Given the description of an element on the screen output the (x, y) to click on. 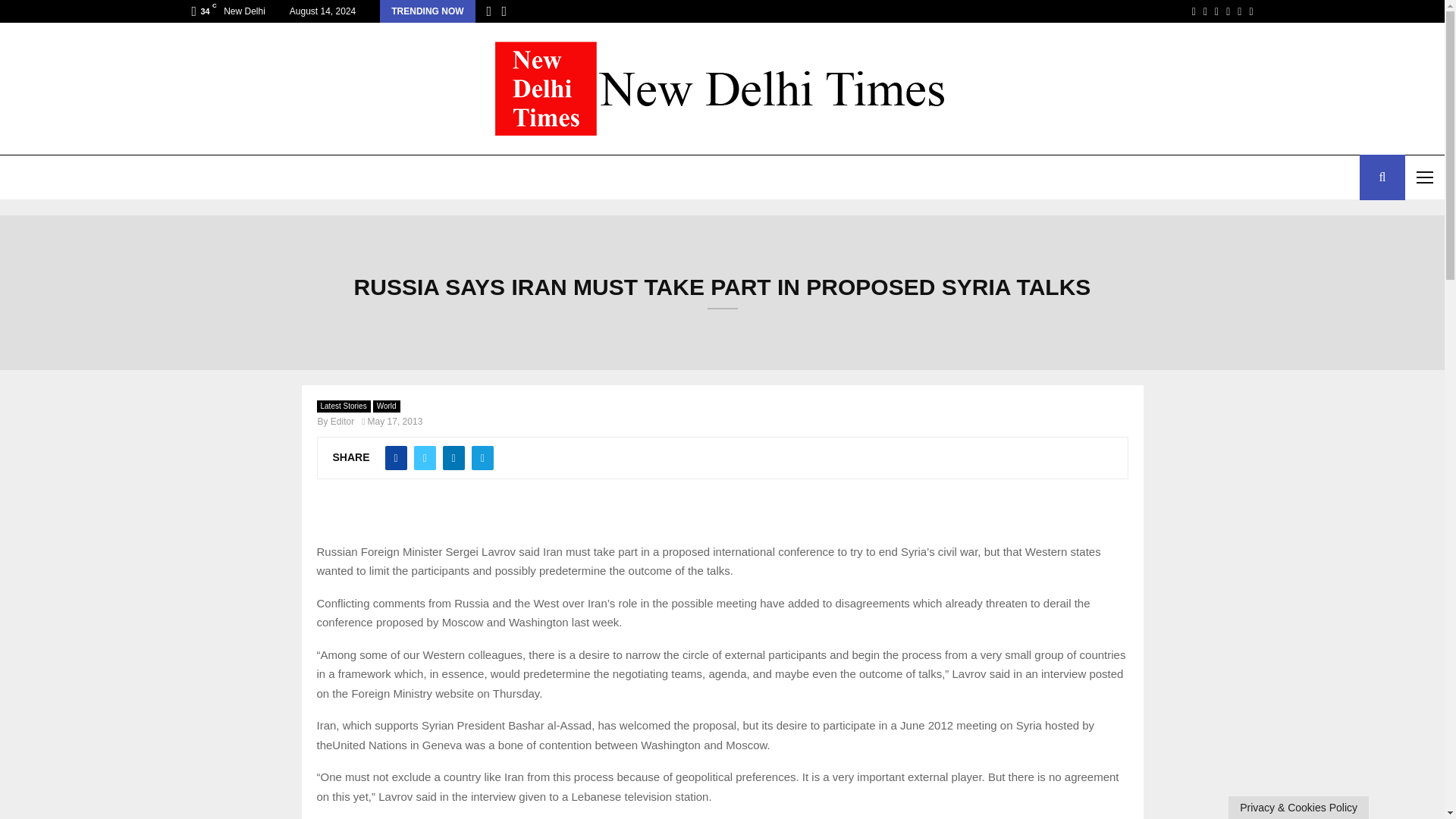
SPORTS (283, 176)
WORLD (148, 176)
LATEST STORIES (56, 176)
